Given the description of an element on the screen output the (x, y) to click on. 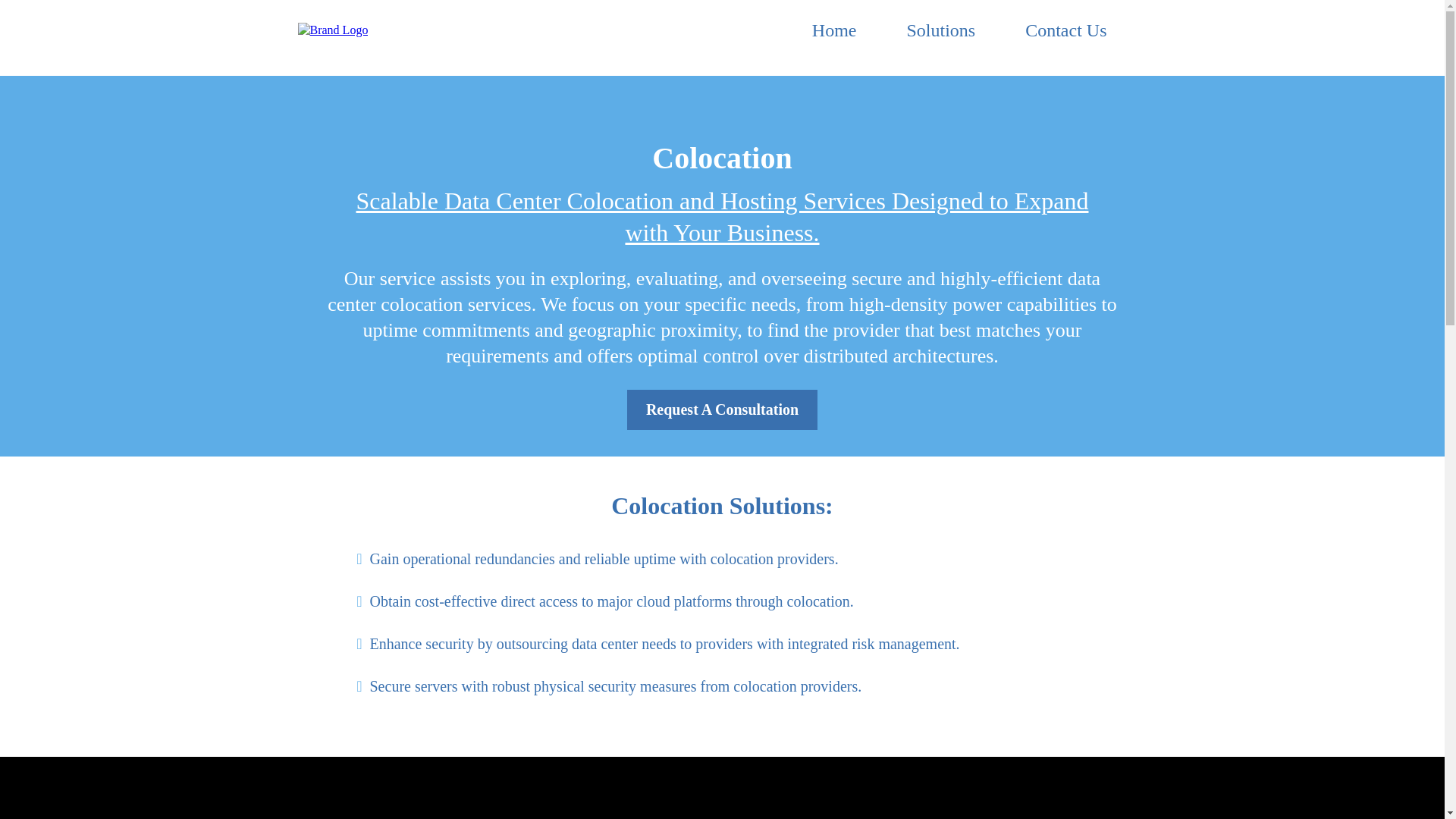
Request A Consultation (721, 409)
Contact Us (1065, 30)
Solutions (940, 30)
Home (834, 30)
